Given the description of an element on the screen output the (x, y) to click on. 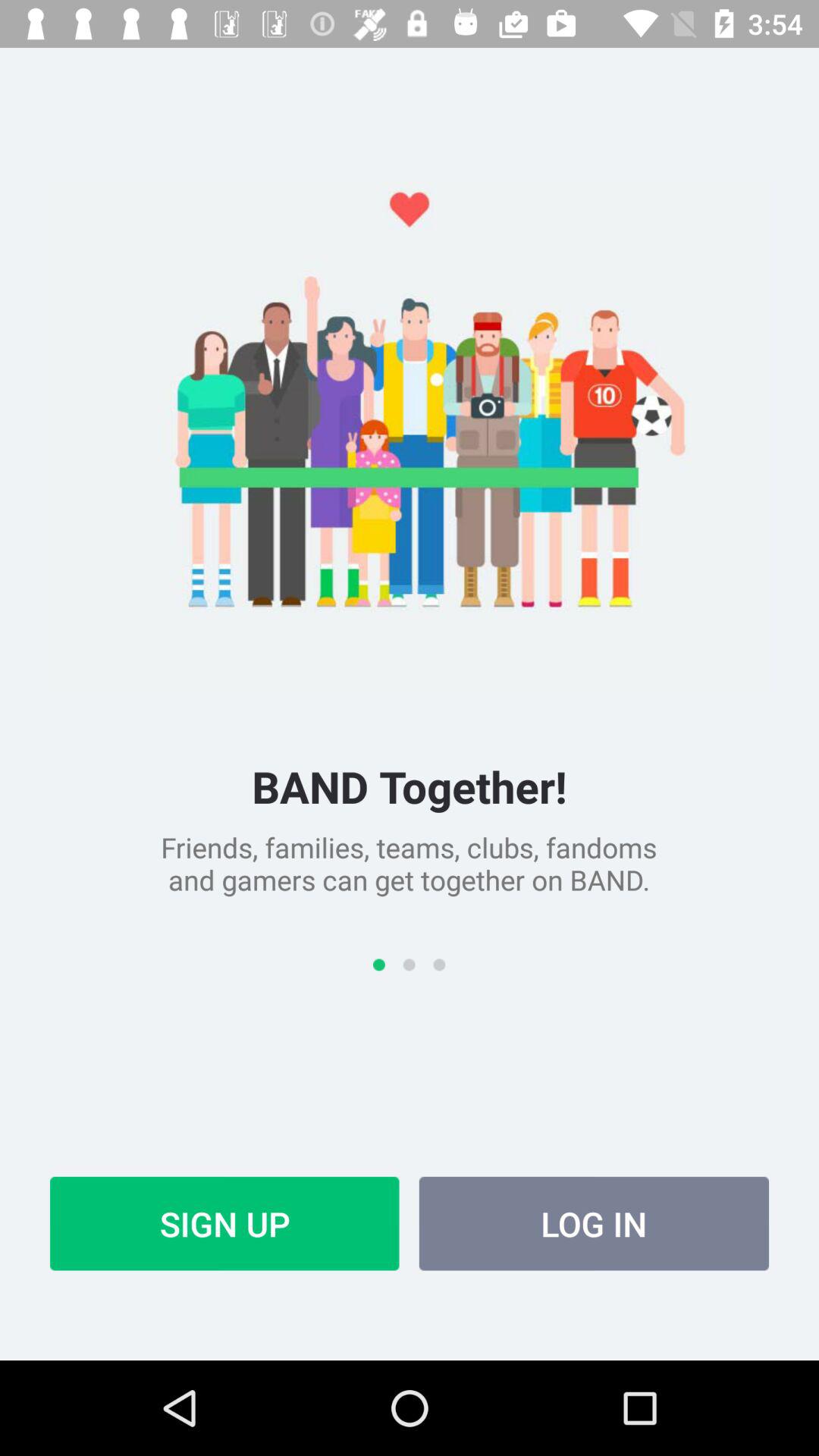
select the sign up at the bottom left corner (224, 1223)
